Given the description of an element on the screen output the (x, y) to click on. 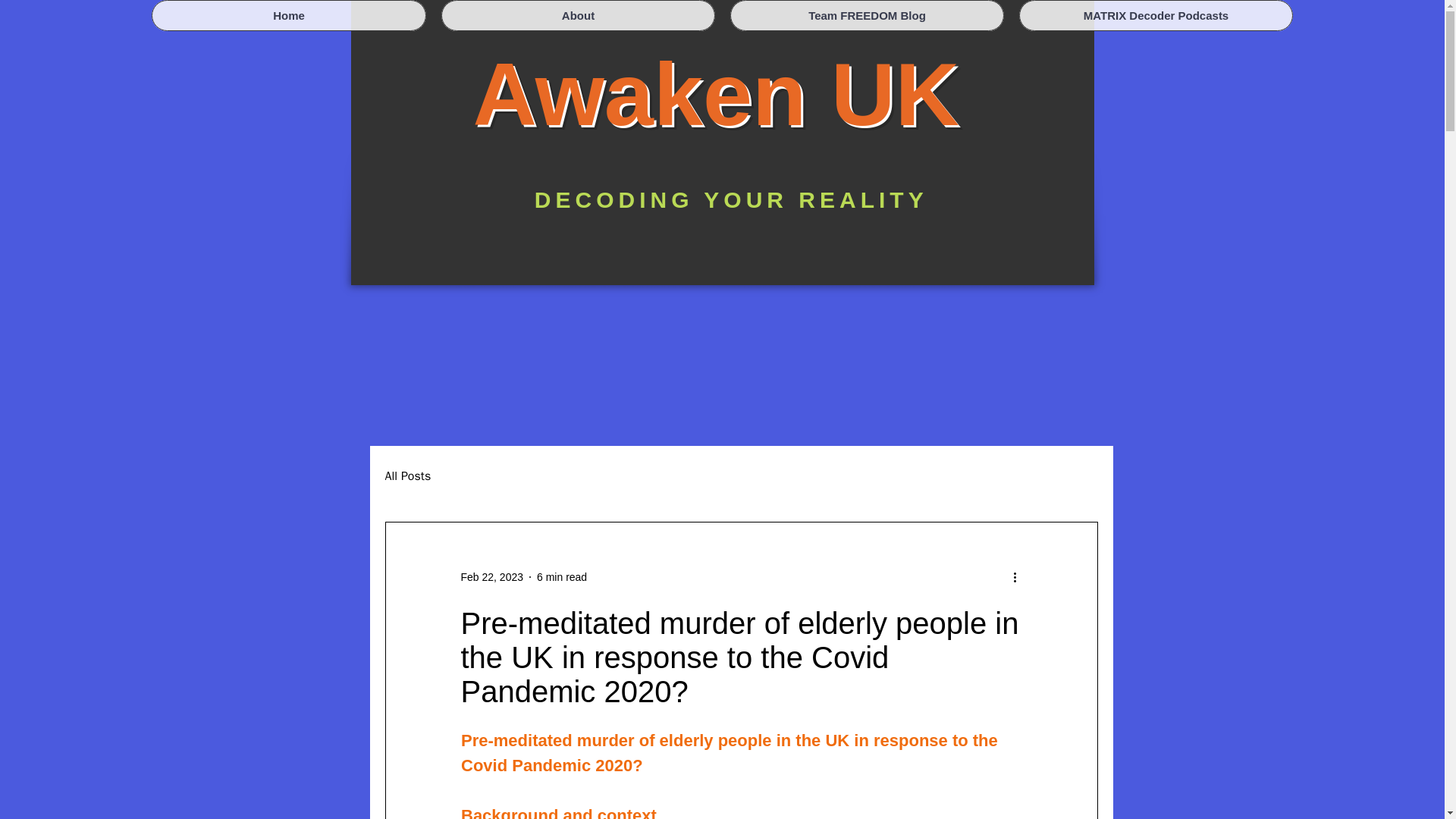
Home (288, 15)
All Posts (407, 476)
6 min read (561, 576)
Feb 22, 2023 (492, 576)
MATRIX Decoder Podcasts (1155, 15)
Team FREEDOM Blog (867, 15)
About (577, 15)
